Given the description of an element on the screen output the (x, y) to click on. 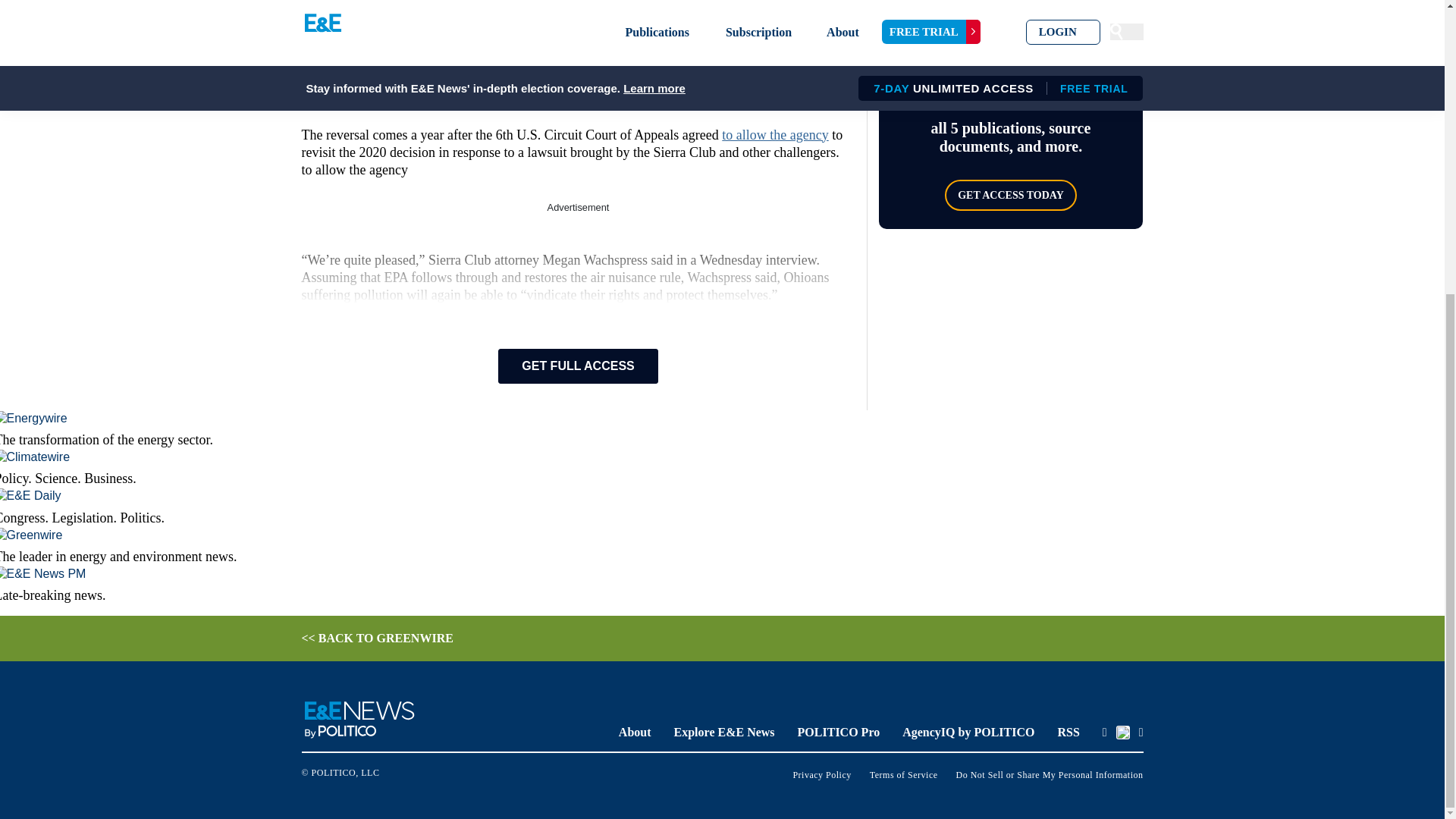
POLITICO Pro (838, 731)
Congress. Legislation. Politics. (417, 506)
The leader in energy and environment news. (417, 546)
About (634, 731)
a newly proposed rule (375, 11)
GET FULL ACCESS (577, 366)
Policy. Science. Business. (417, 467)
to allow the agency (775, 134)
GET ACCESS TODAY (1010, 194)
The transformation of the energy sector. (417, 429)
